Given the description of an element on the screen output the (x, y) to click on. 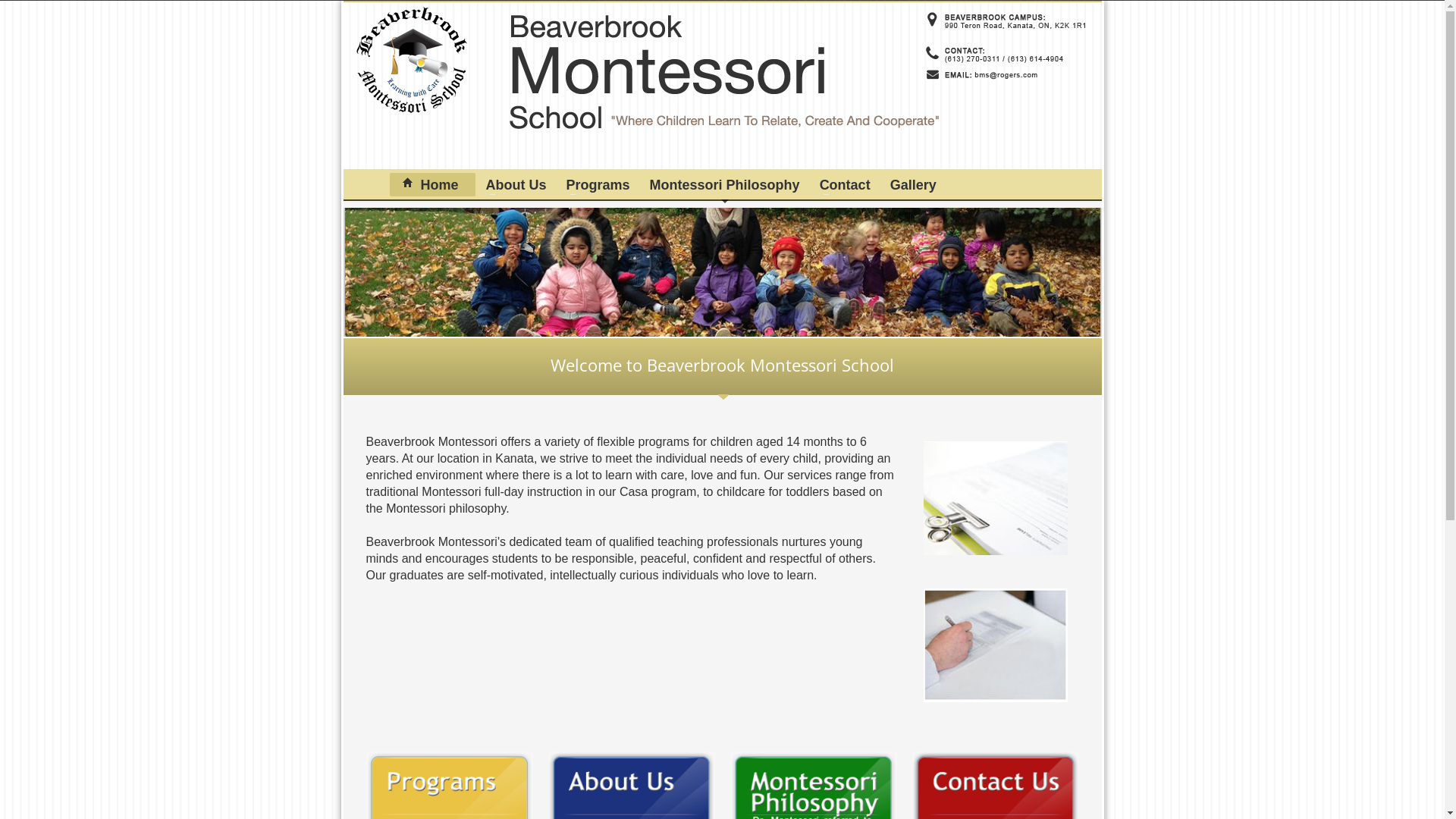
banner Element type: hover (721, 274)
Montessori Philosophy Element type: text (724, 184)
SUPPORT Element type: text (1072, 18)
   Home   Element type: text (432, 184)
kanata-montessori Element type: hover (376, 184)
  Element type: text (376, 184)
Gallery Element type: text (913, 184)
